Given the description of an element on the screen output the (x, y) to click on. 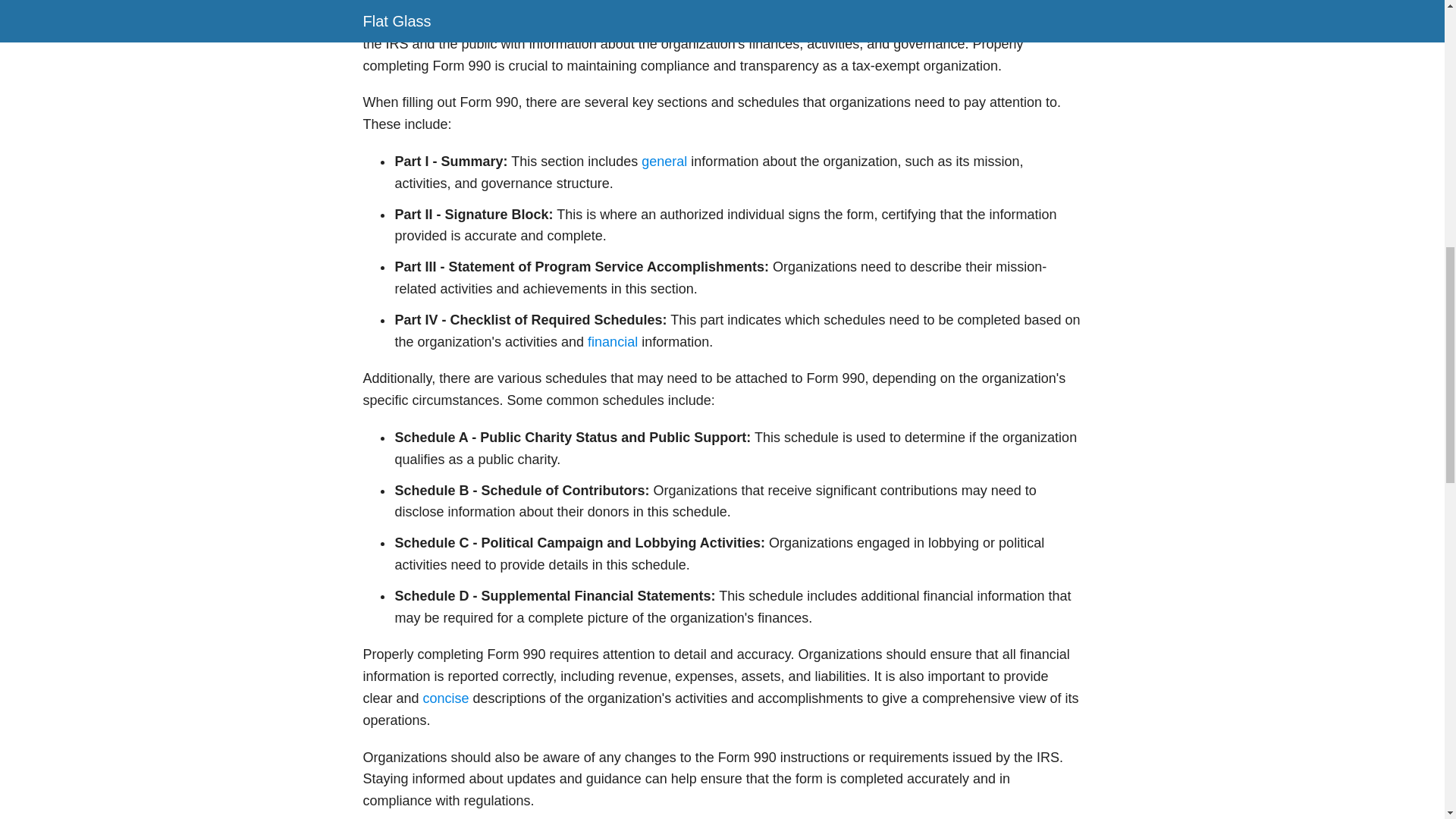
general (664, 160)
financial (612, 341)
concise (445, 698)
